Given the description of an element on the screen output the (x, y) to click on. 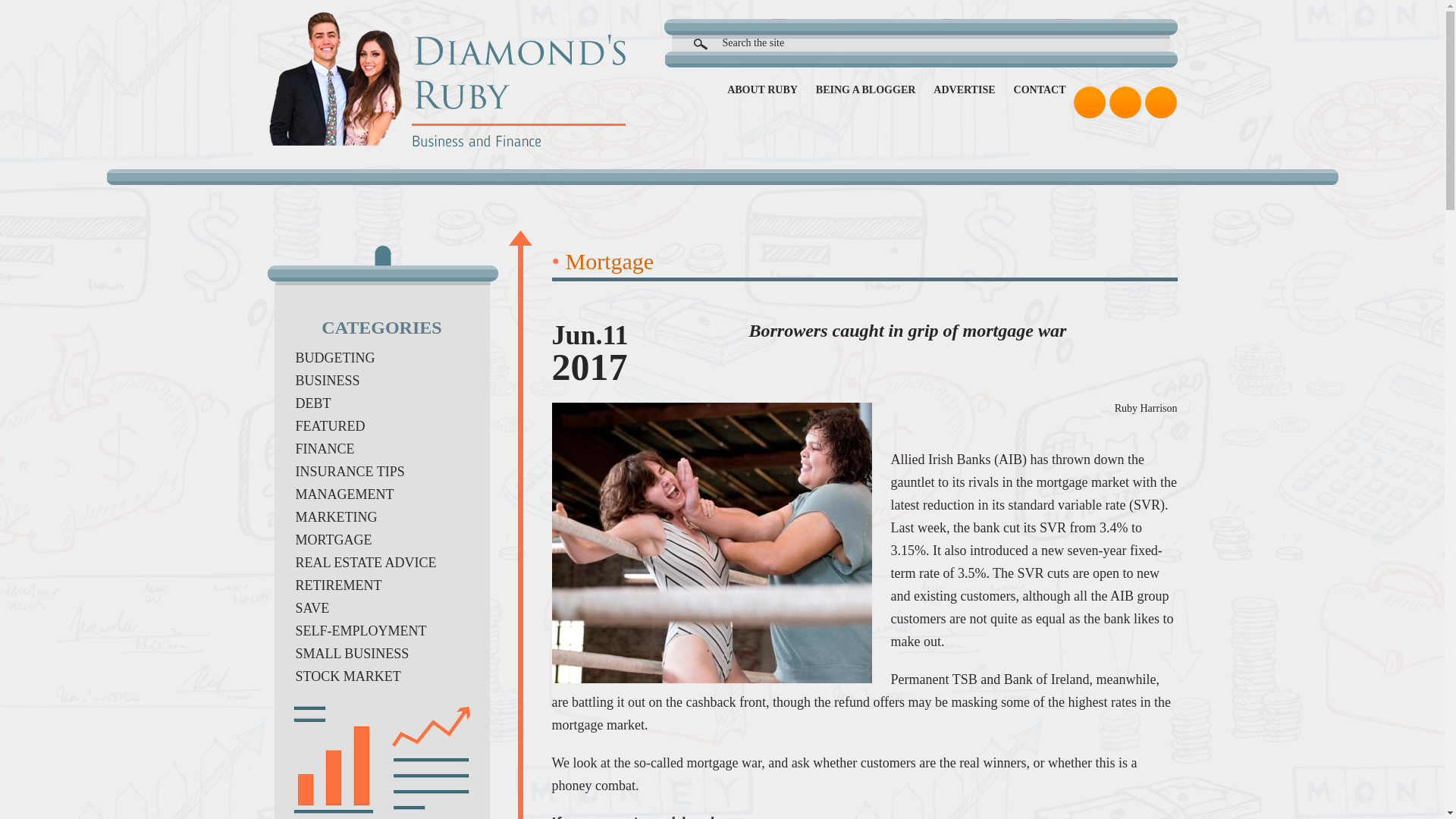
SELF-EMPLOYMENT (360, 630)
FEATURED (330, 426)
BUDGETING (335, 357)
MARKETING (336, 516)
CONTACT (1039, 89)
Ruby Harrison (1146, 408)
ABOUT RUBY (761, 89)
Search the site (949, 42)
ADVERTISE (963, 89)
STOCK MARKET (348, 676)
Posts by Ruby Harrison (1146, 408)
BEING A BLOGGER (865, 89)
INSURANCE TIPS (349, 471)
RETIREMENT (338, 585)
REAL ESTATE ADVICE (365, 562)
